Given the description of an element on the screen output the (x, y) to click on. 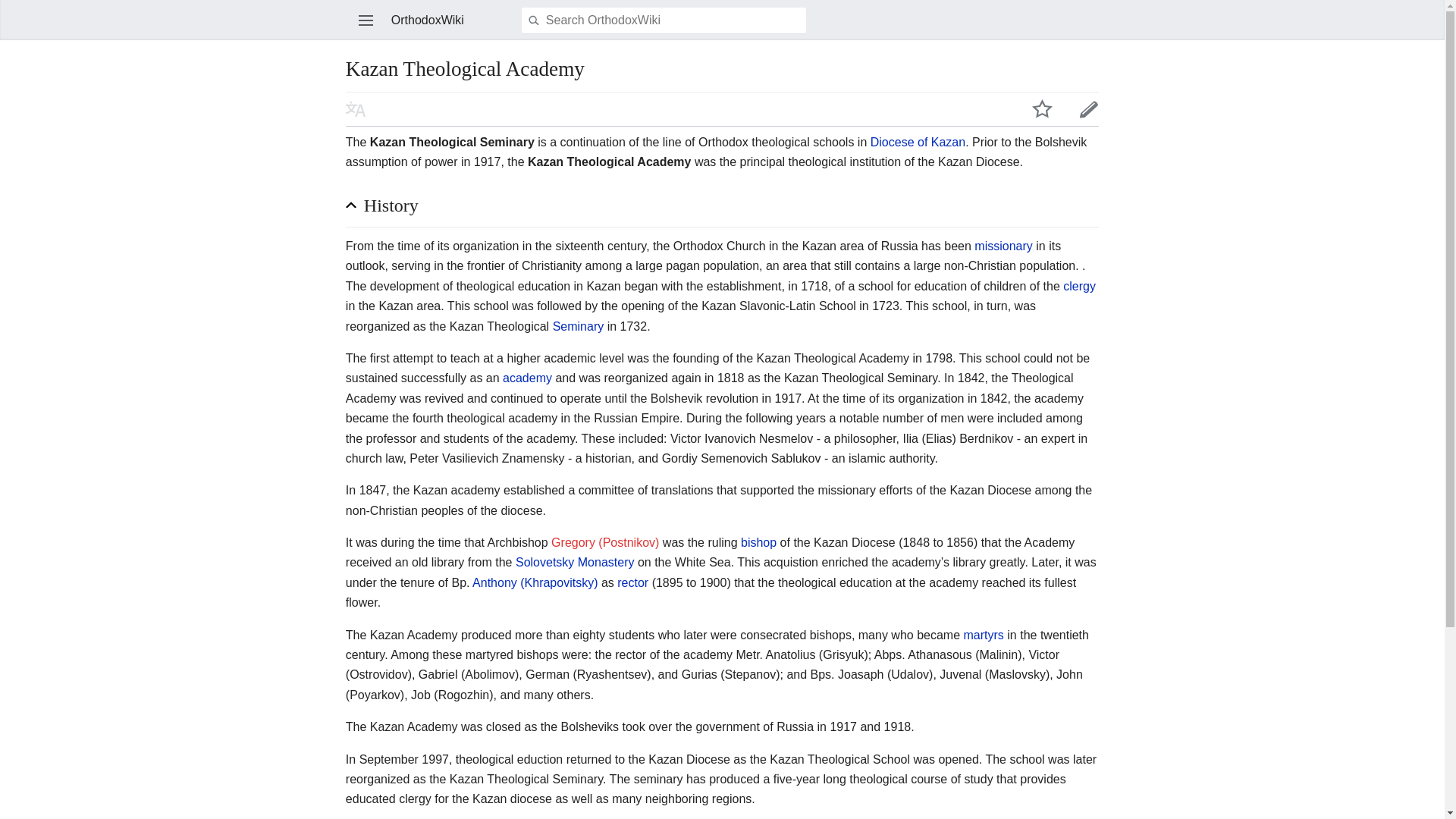
Edit the lead section of this page (1088, 108)
clergy (1079, 286)
Watch this page (1042, 108)
Clergy (1079, 286)
Solovetsky Monastery (574, 562)
rector (632, 582)
Diocese of Kazan (917, 141)
Edit (1088, 108)
Academy (526, 377)
Watch this page (1042, 108)
